Given the description of an element on the screen output the (x, y) to click on. 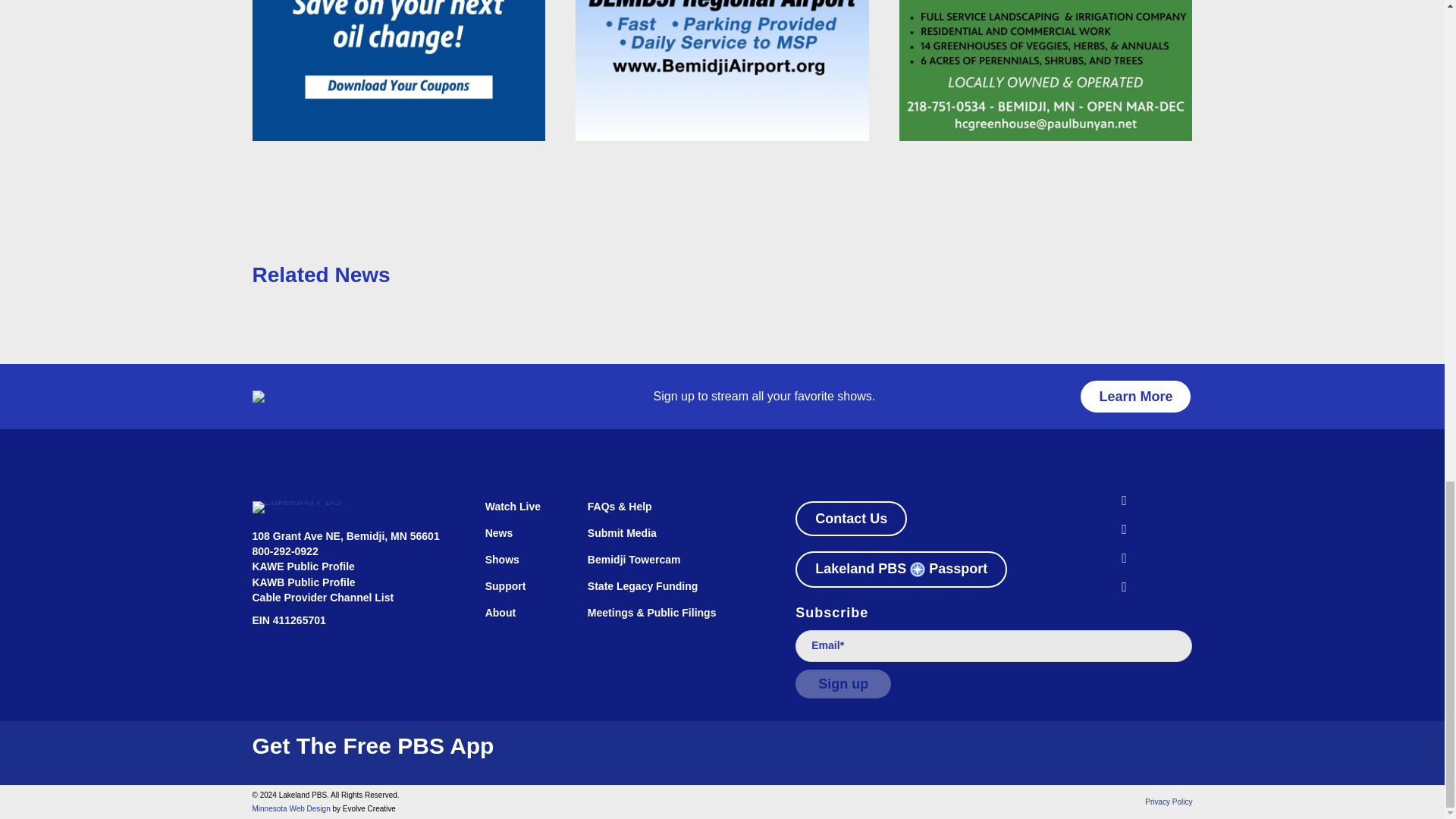
Cable Provider Channel List (322, 597)
KAWE Public Profile (302, 566)
Sign up (842, 683)
Cable Provider Channel List (322, 597)
KAWB Public Profile (303, 582)
Shows (520, 566)
KAWB Public Profile (303, 582)
Learn More (1135, 396)
Watch Live (520, 514)
About (520, 620)
